Given the description of an element on the screen output the (x, y) to click on. 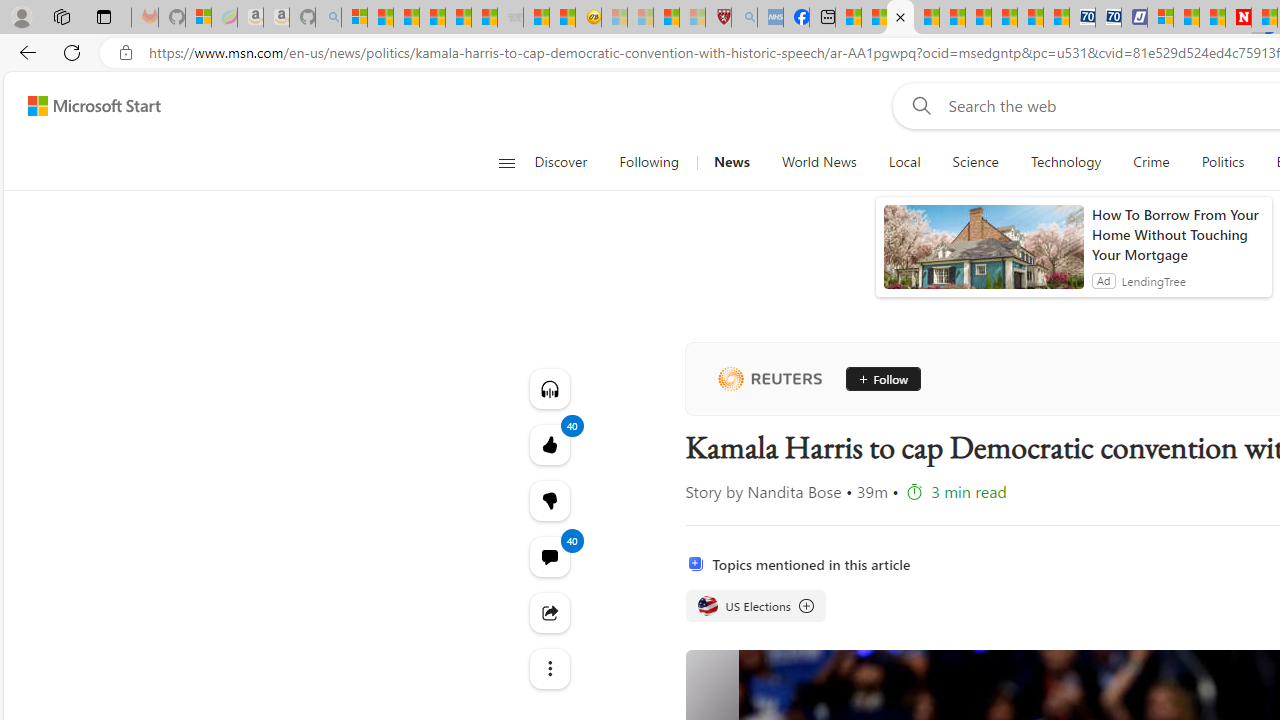
Local (903, 162)
Reuters (769, 378)
Workspaces (61, 16)
Science (975, 162)
12 Popular Science Lies that Must be Corrected - Sleeping (692, 17)
Class: button-glyph (505, 162)
Personal Profile (21, 16)
See more (548, 668)
Following (648, 162)
LendingTree (1153, 280)
